Given the description of an element on the screen output the (x, y) to click on. 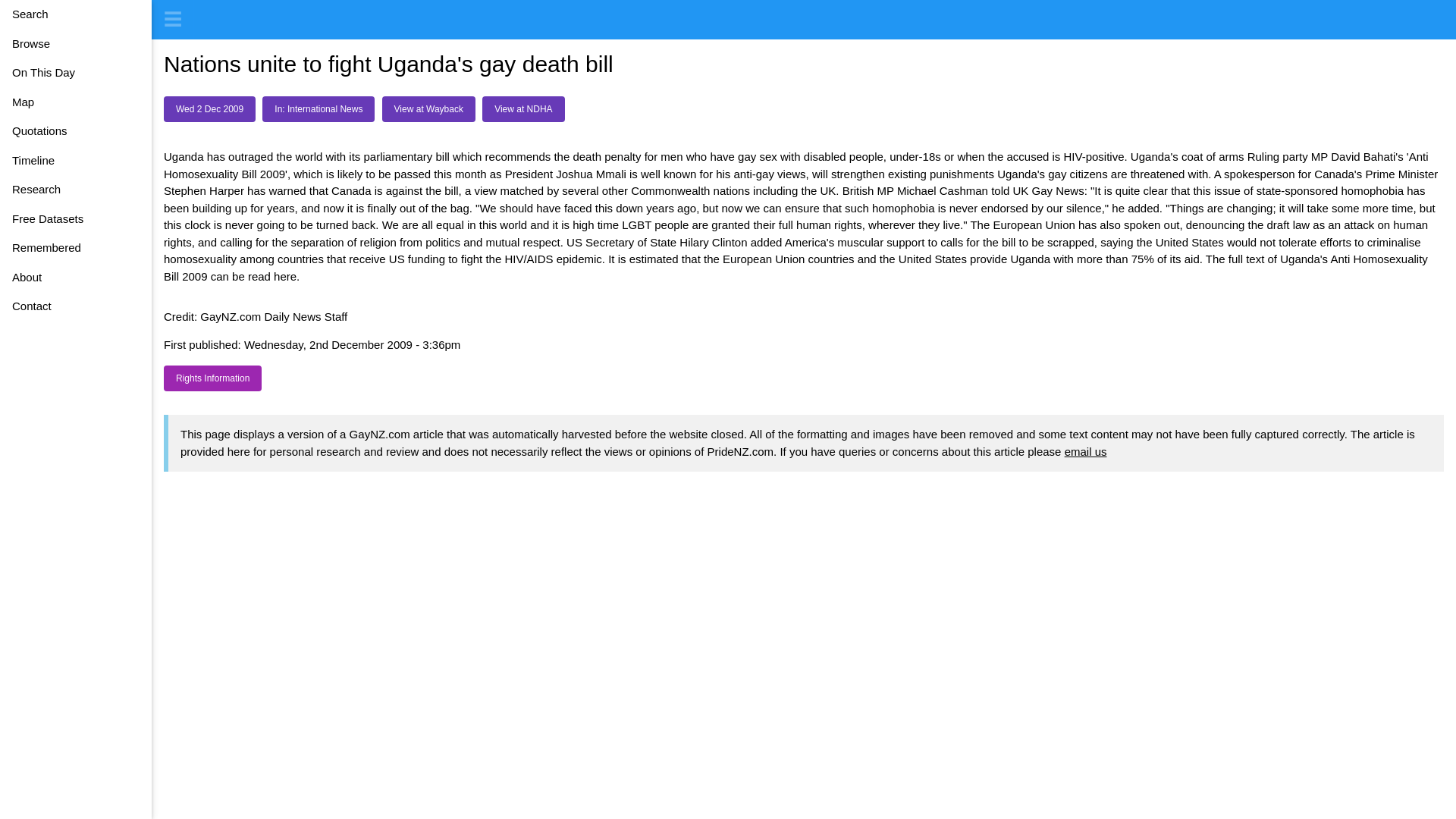
Search (75, 14)
Map (75, 102)
Remembered (75, 247)
About (75, 276)
On This Day (75, 72)
Search (75, 14)
Email PrideNZ.com (1085, 451)
Timeline (75, 160)
Rights Information (212, 378)
Map (75, 102)
